Given the description of an element on the screen output the (x, y) to click on. 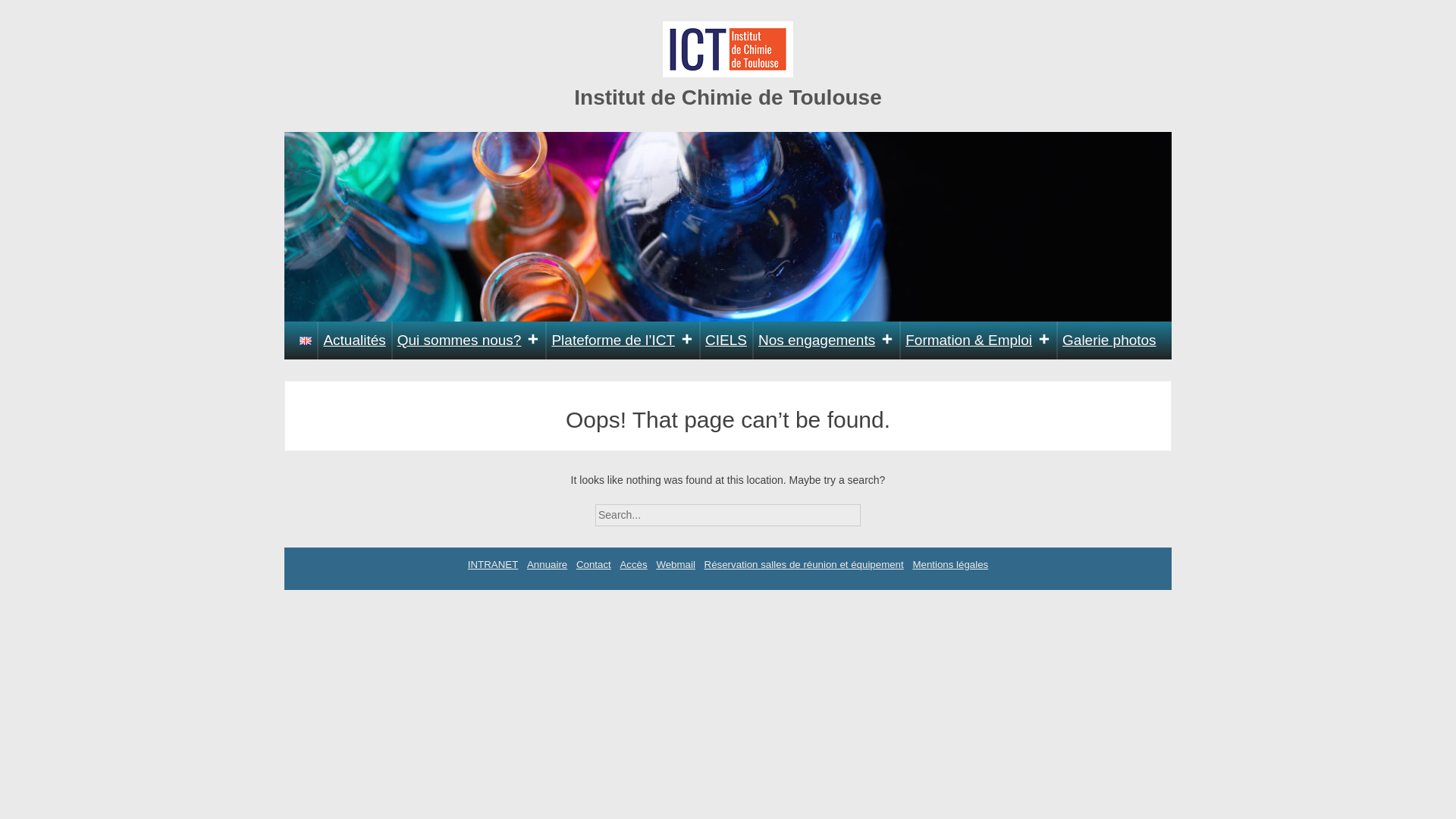
CIELS (726, 340)
Nos engagements (825, 340)
Institut de Chimie de Toulouse (727, 97)
Qui sommes nous? (468, 340)
Search (873, 509)
Search (873, 509)
